Given the description of an element on the screen output the (x, y) to click on. 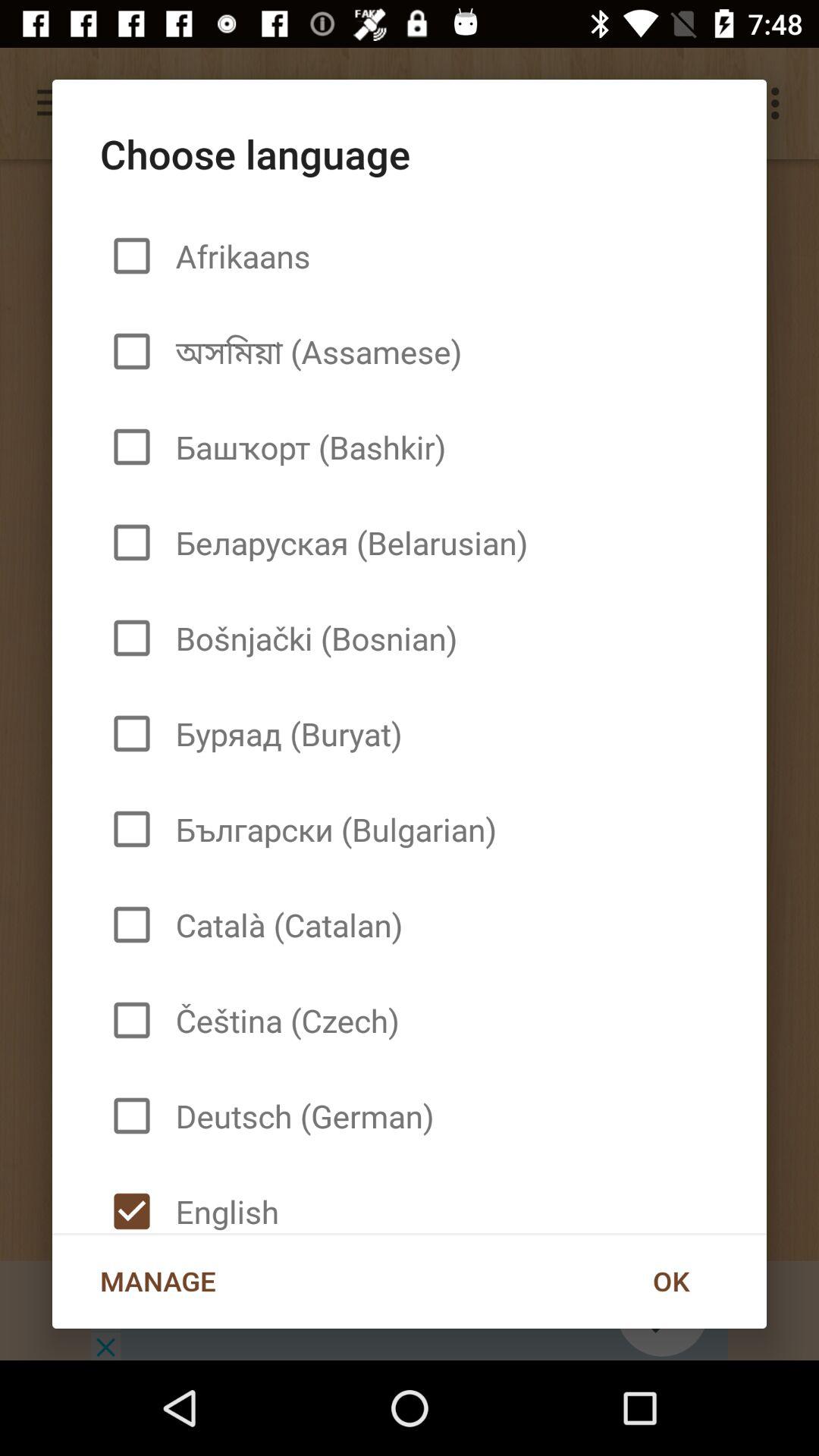
click the ok at the bottom right corner (670, 1280)
